Given the description of an element on the screen output the (x, y) to click on. 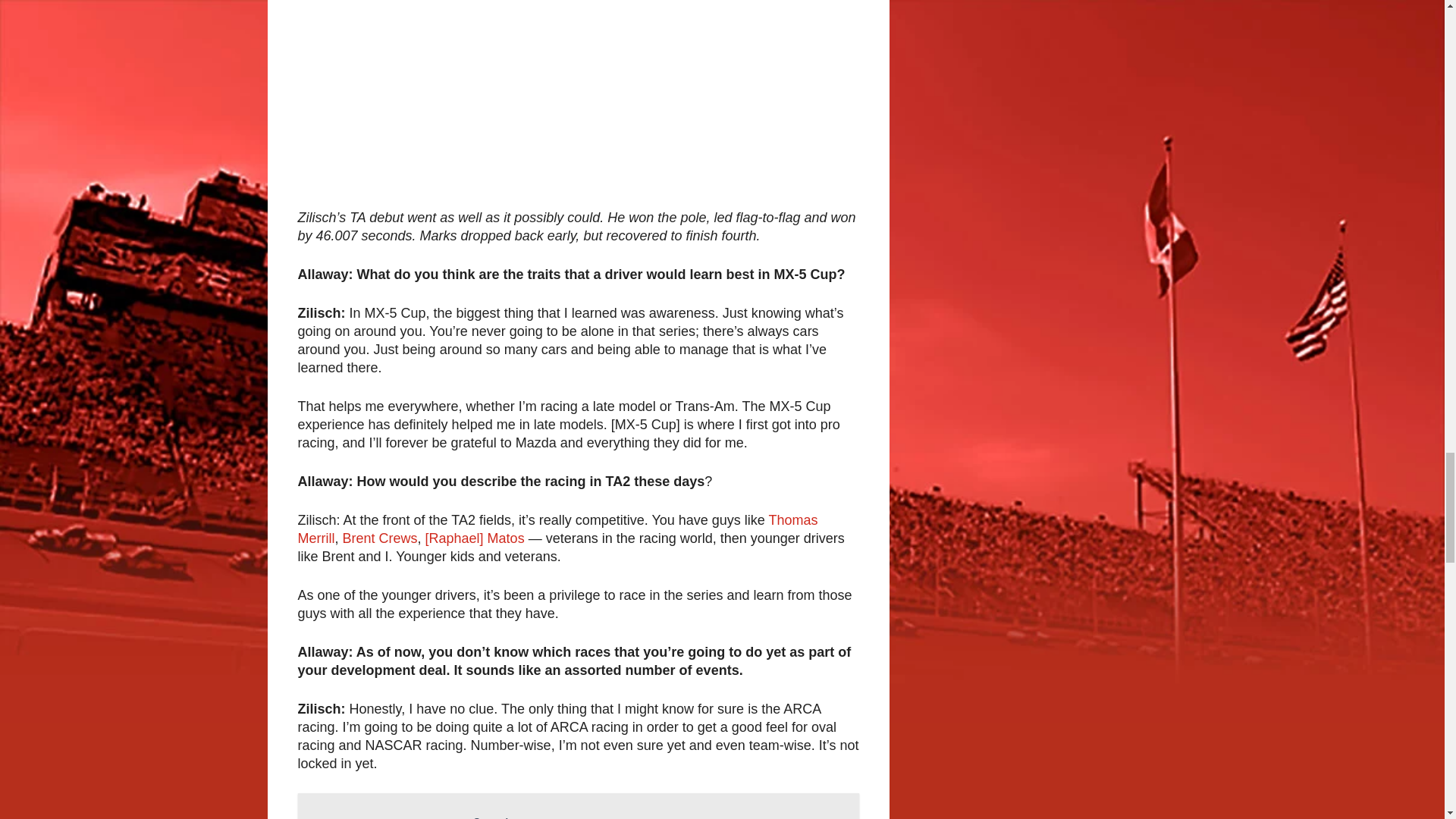
Thomas Merrill (578, 806)
Brent Crews (556, 529)
